Given the description of an element on the screen output the (x, y) to click on. 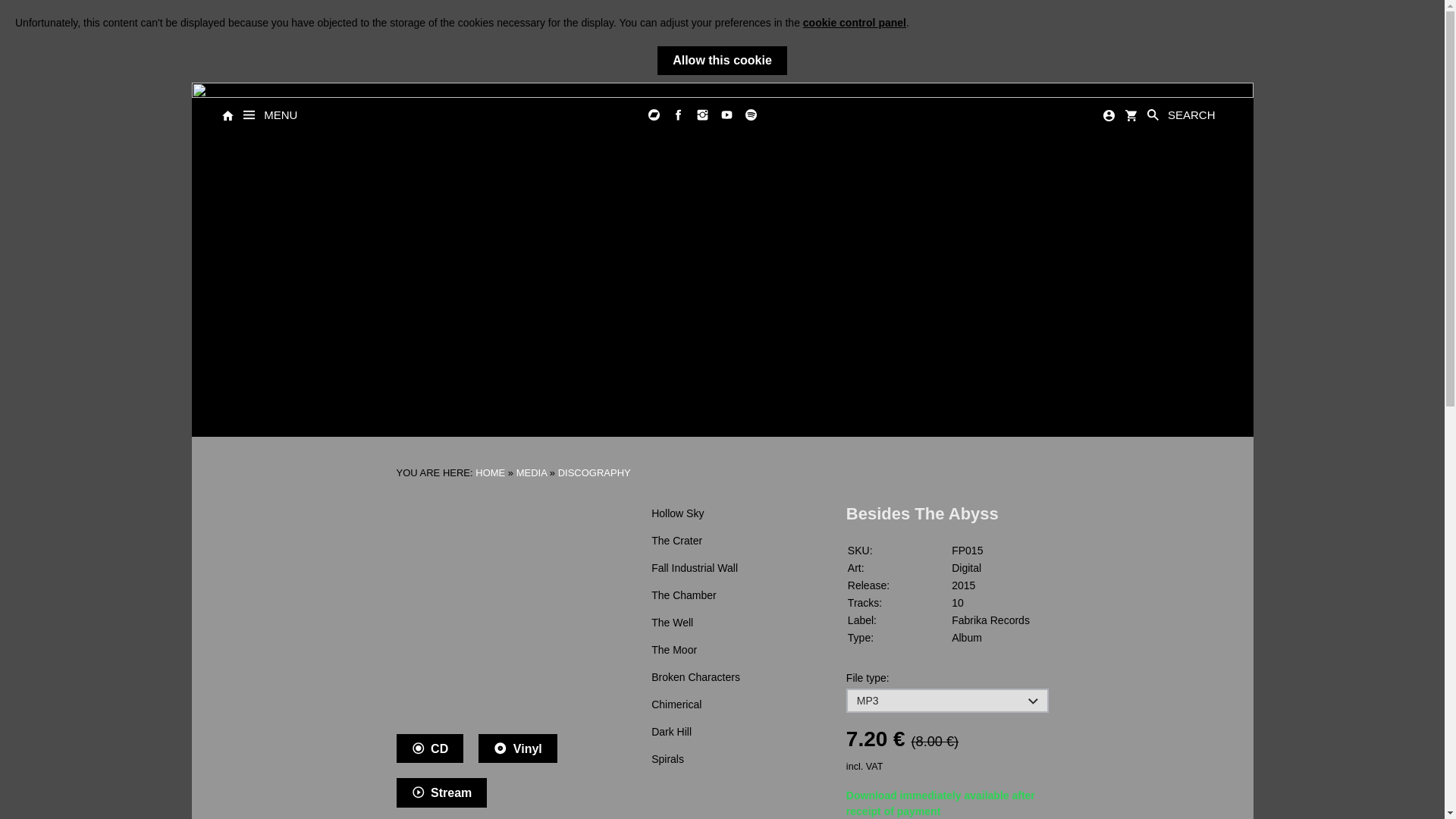
HOME (490, 472)
SEARCH (1180, 115)
MENU (270, 115)
Beside The Abyss (497, 602)
DISCOGRAPHY (593, 472)
MEDIA (531, 472)
cookie control panel (854, 22)
Allow this cookie (722, 60)
